Given the description of an element on the screen output the (x, y) to click on. 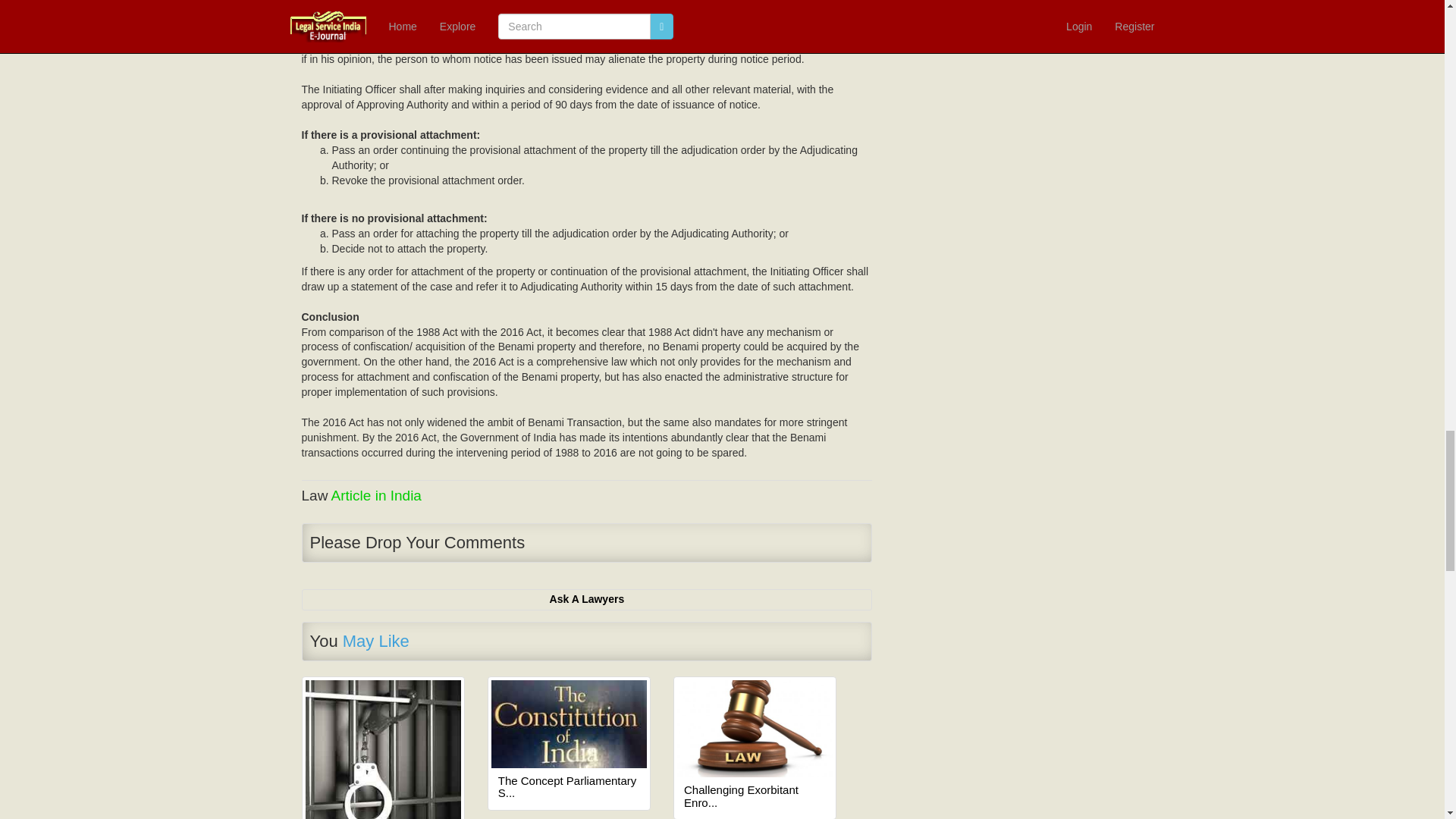
Ask A Lawyers (587, 598)
The Concept Parliamentary S... (568, 787)
Challenging Exorbitant Enro... (754, 796)
